Given the description of an element on the screen output the (x, y) to click on. 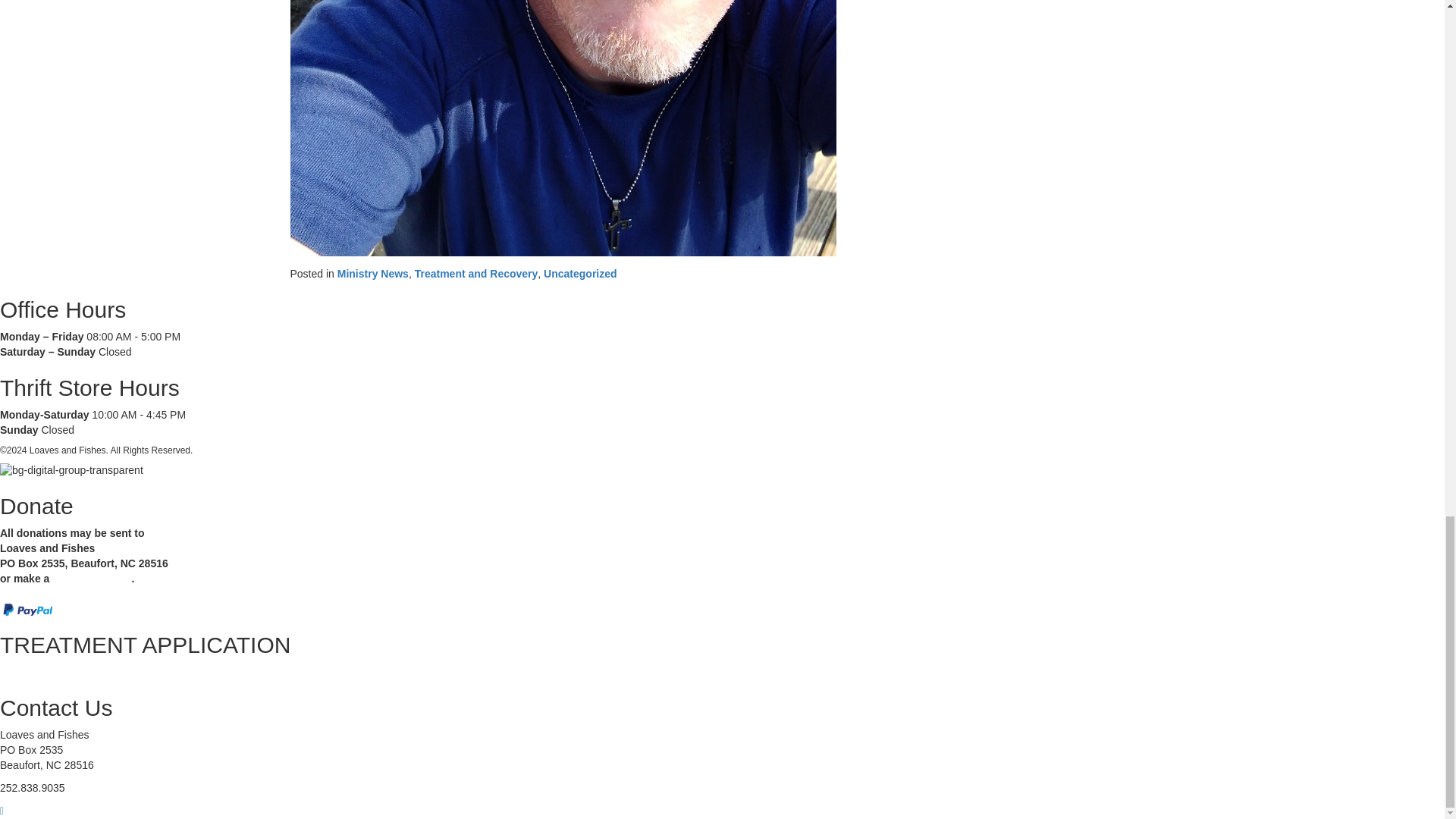
Treatment and Recovery (476, 273)
Uncategorized (579, 273)
bg-digital-group-transparent (71, 470)
Ministry News (373, 273)
